Given the description of an element on the screen output the (x, y) to click on. 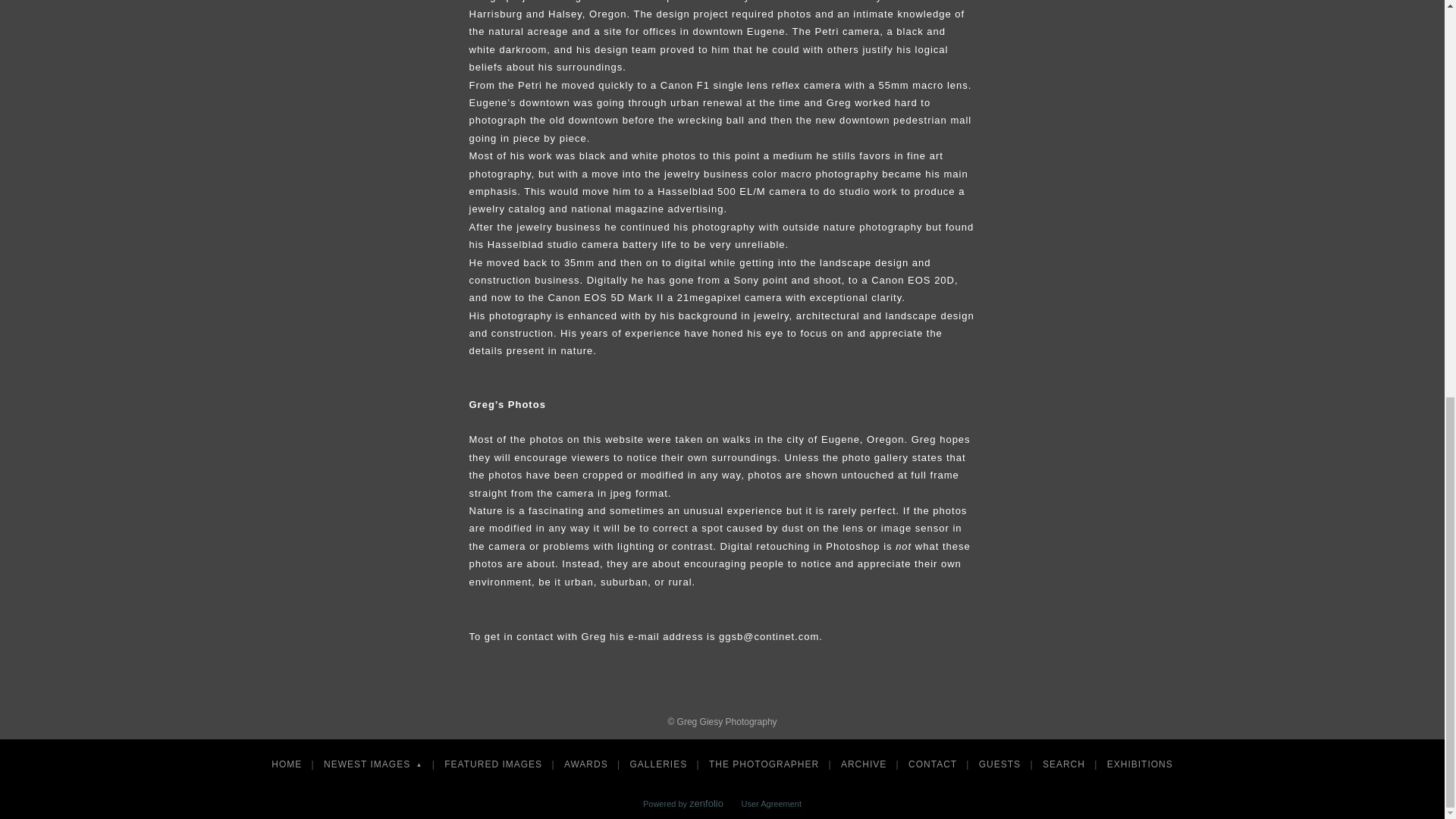
CONTACT (934, 764)
Powered by zenfolio (683, 803)
GALLERIES (659, 764)
AWARDS (587, 764)
THE PHOTOGRAPHER (765, 764)
EXHIBITIONS (1139, 764)
User Agreement (771, 803)
GUESTS (1001, 764)
FEATURED IMAGES (494, 764)
SEARCH (1065, 764)
HOME (287, 764)
ARCHIVE (865, 764)
